Given the description of an element on the screen output the (x, y) to click on. 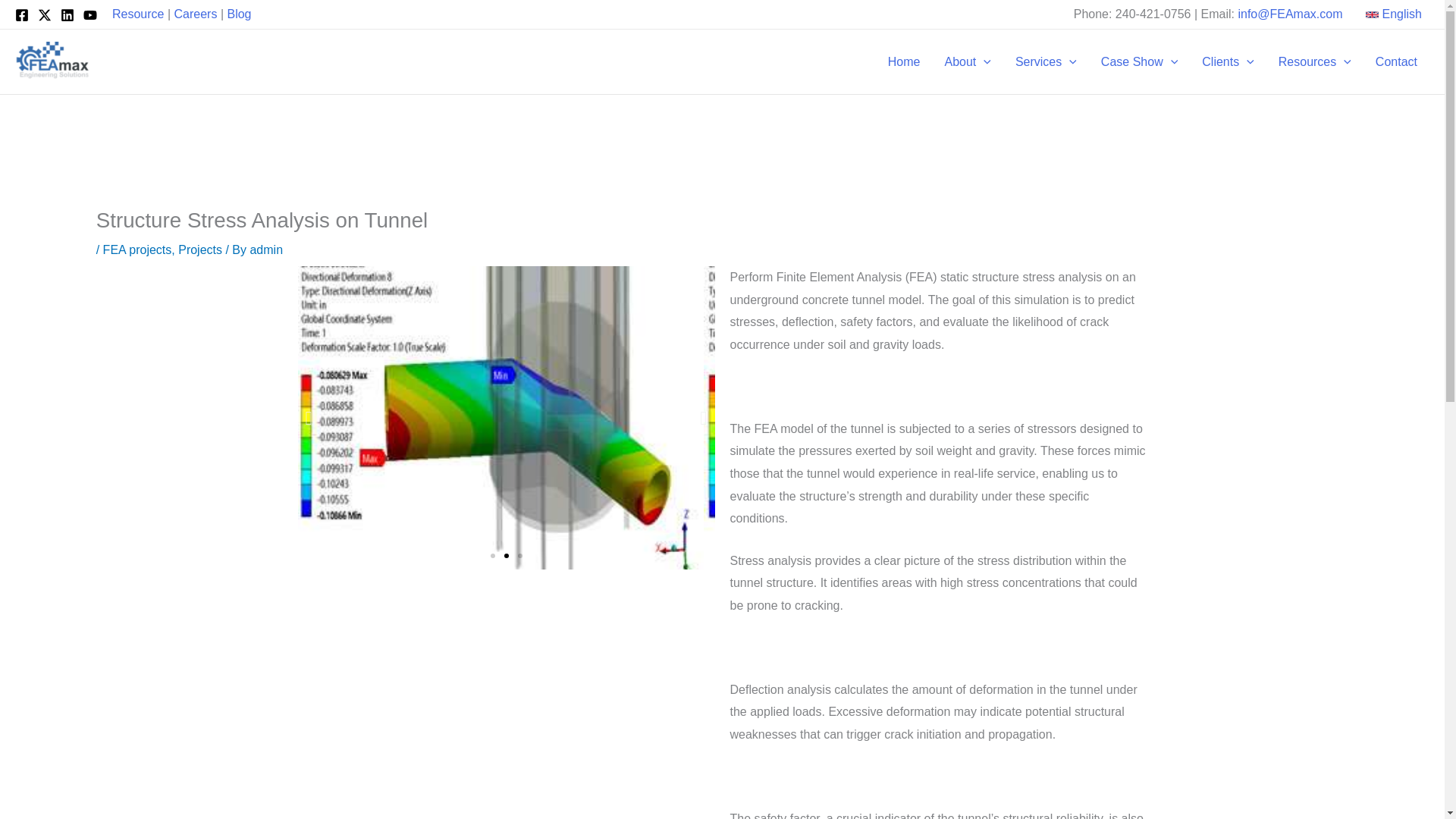
Home (904, 61)
Services (1046, 61)
About (968, 61)
View all posts by admin (265, 249)
Case Show (1139, 61)
Resources (1314, 61)
English (1393, 14)
Resource (137, 13)
Clients (1227, 61)
Blog (238, 13)
Careers (195, 13)
